Given the description of an element on the screen output the (x, y) to click on. 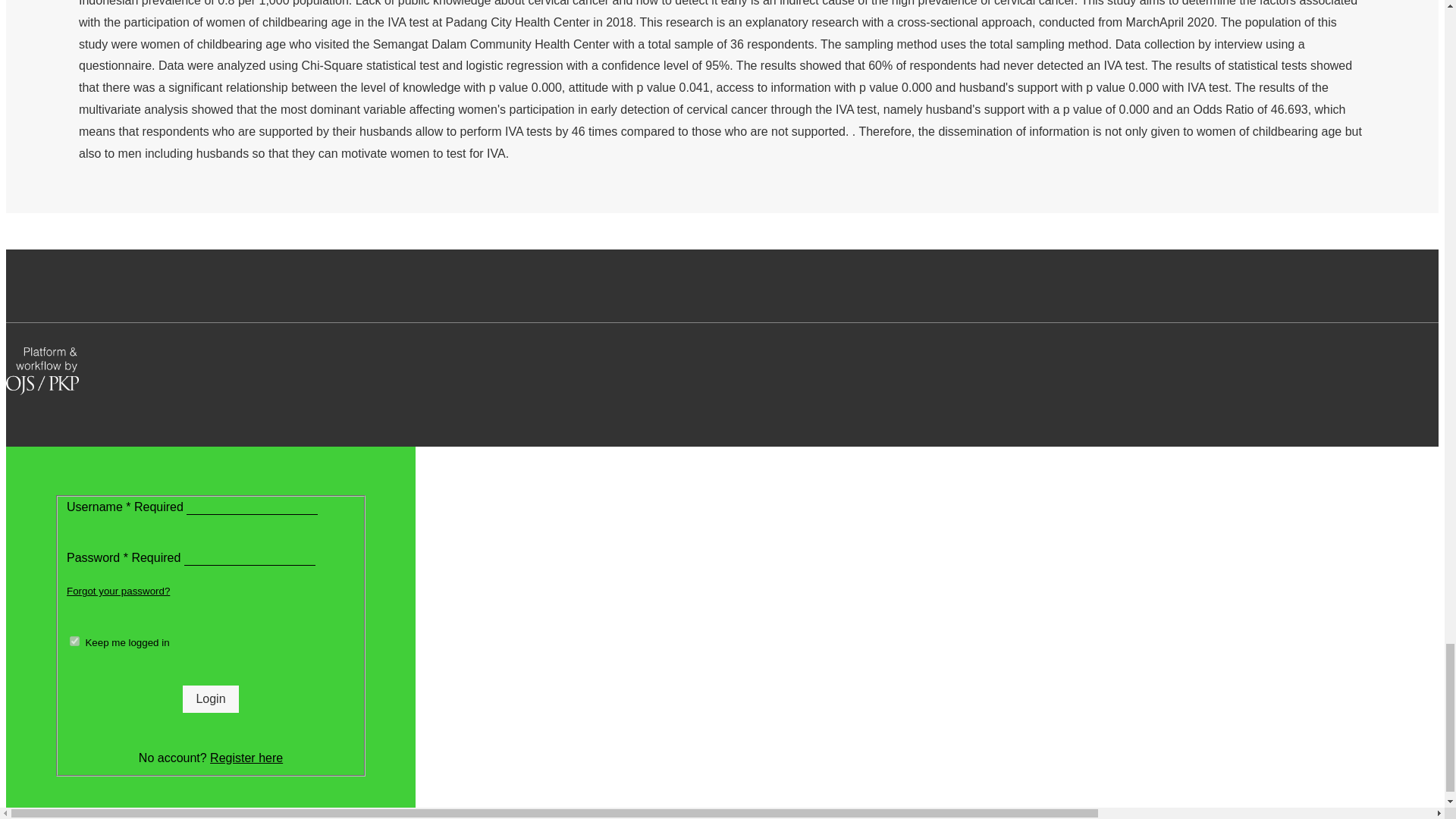
1 (74, 641)
Login (210, 698)
Forgot your password? (118, 591)
Register here (245, 757)
